Given the description of an element on the screen output the (x, y) to click on. 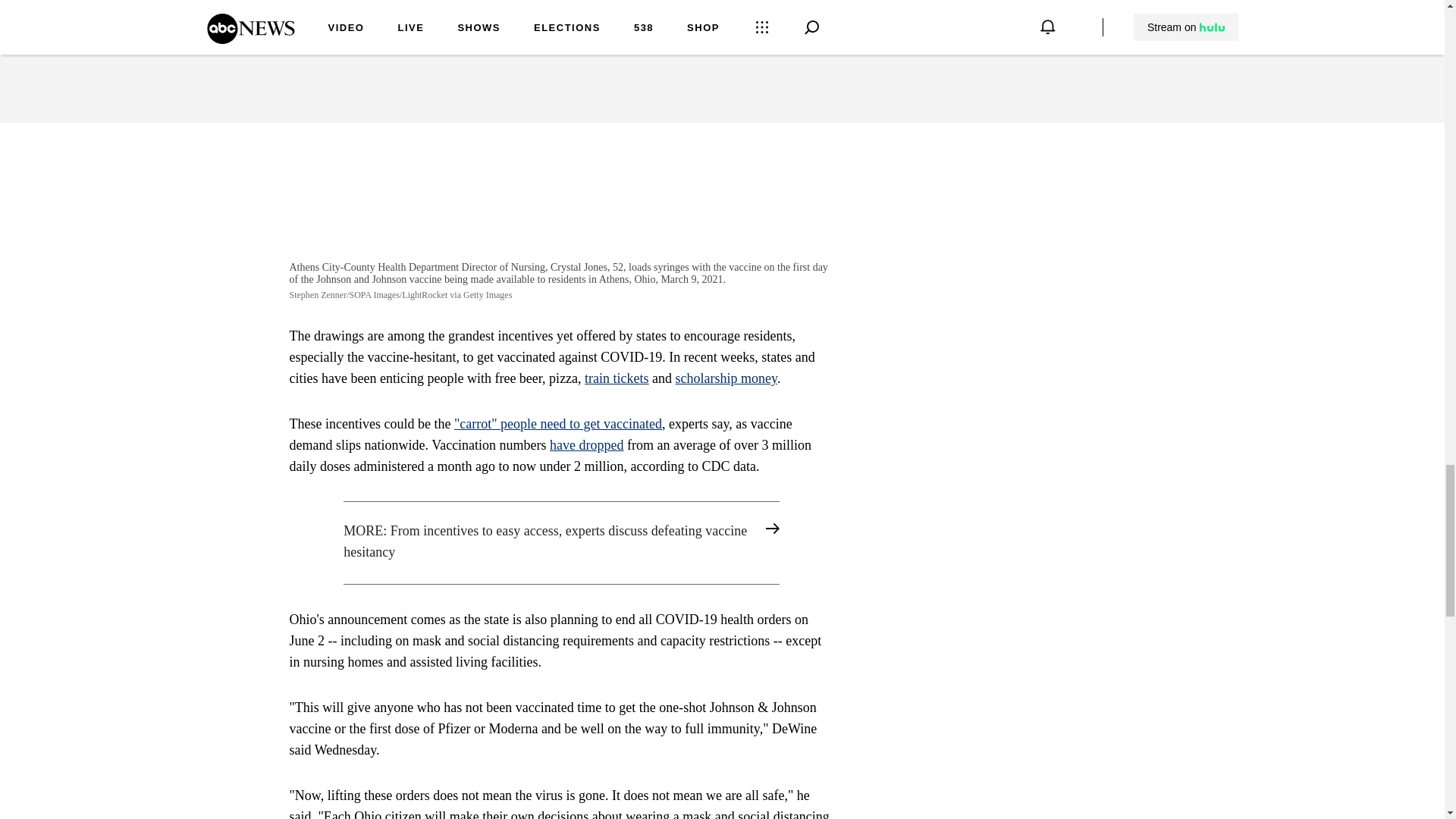
scholarship money (726, 378)
"carrot" people need to get vaccinated (558, 423)
train tickets (616, 378)
have dropped (586, 444)
